Given the description of an element on the screen output the (x, y) to click on. 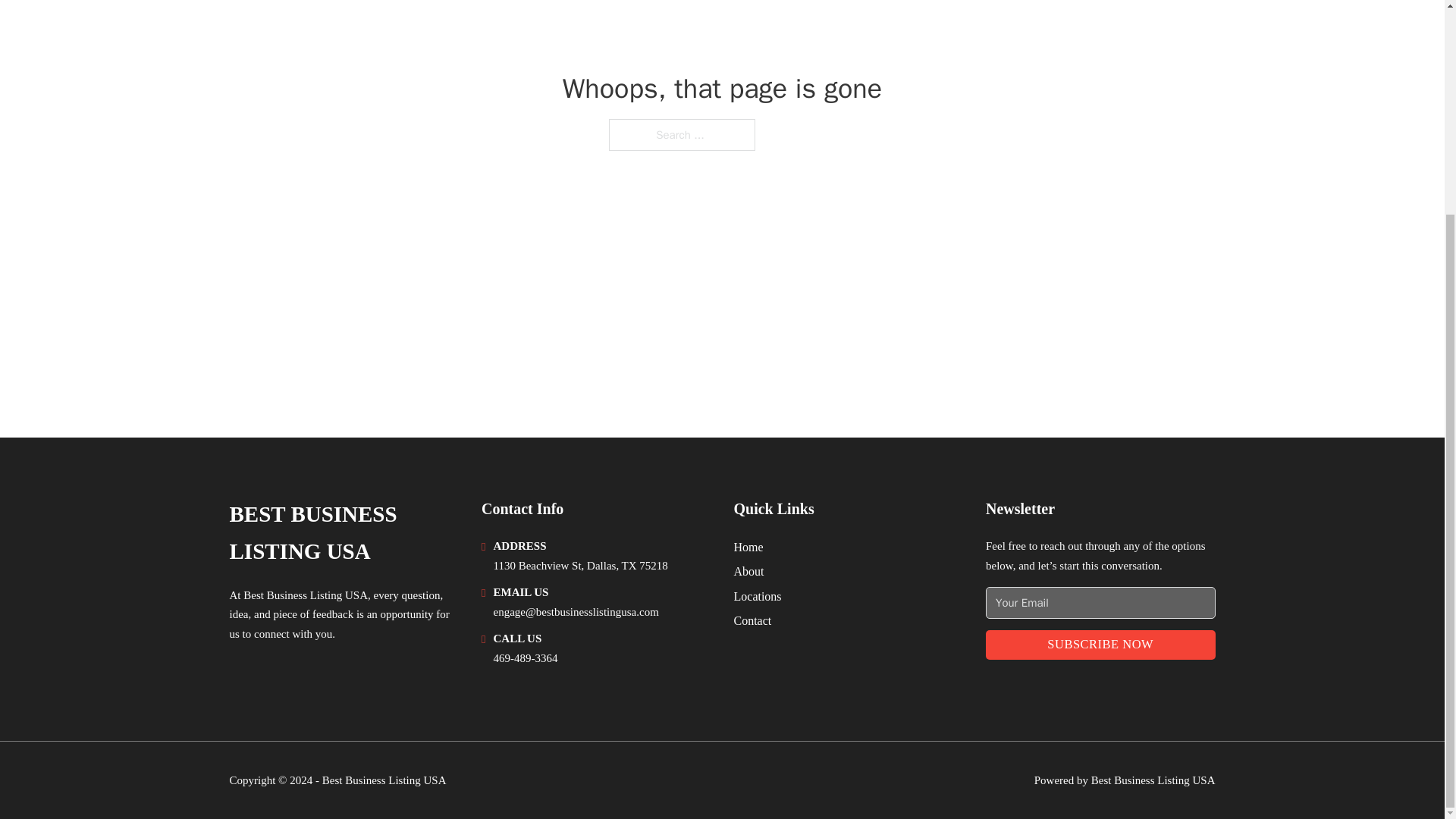
About (748, 571)
Contact (752, 620)
469-489-3364 (525, 657)
SUBSCRIBE NOW (1100, 644)
Locations (757, 596)
BEST BUSINESS LISTING USA (343, 533)
Home (747, 547)
